Given the description of an element on the screen output the (x, y) to click on. 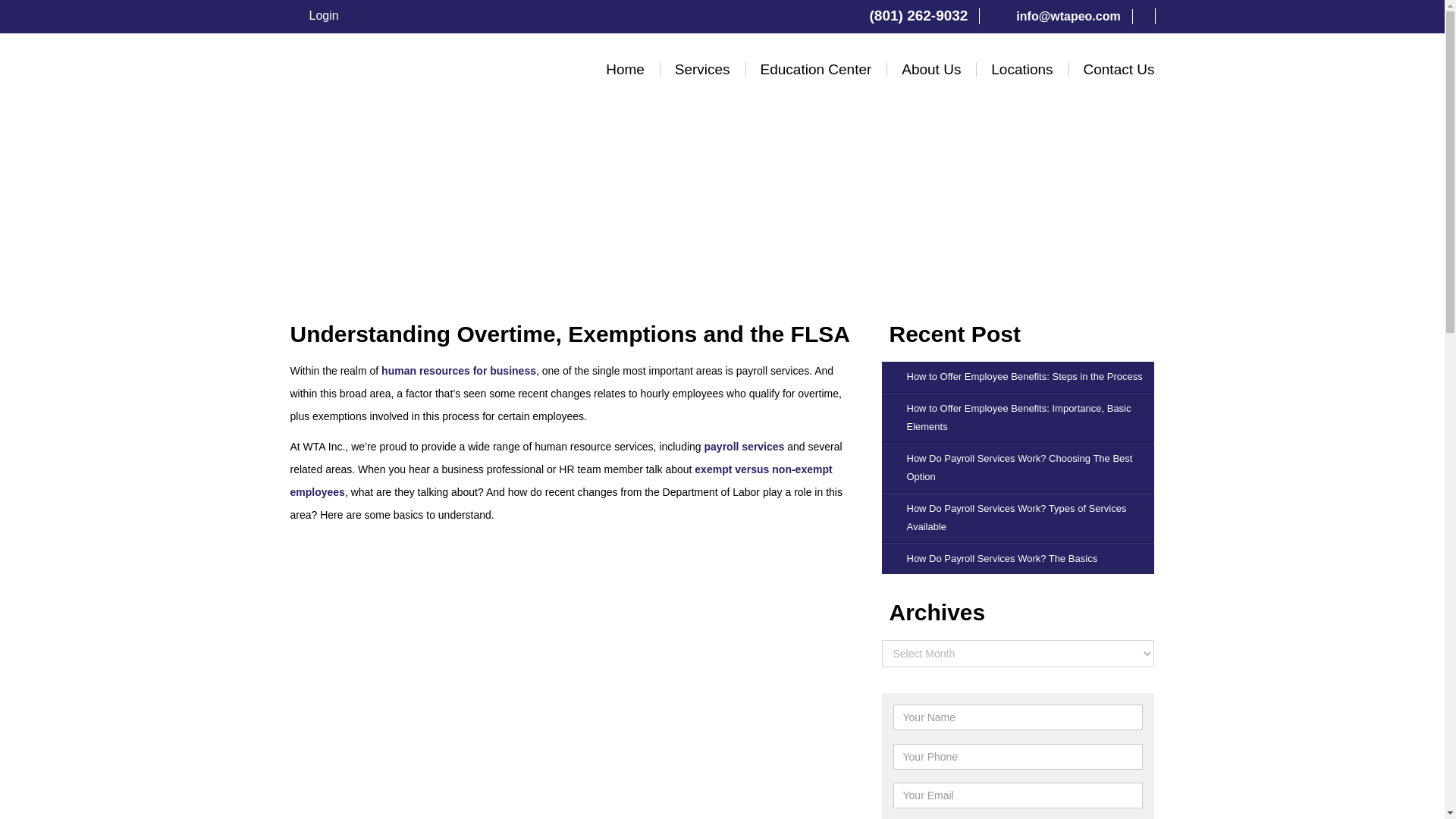
Login (309, 15)
Services (702, 69)
How Do Payroll Services Work? The Basics (1017, 558)
Locations (1021, 69)
exempt versus non-exempt employees (560, 480)
Home (625, 69)
payroll services (744, 446)
Salt Lake City (1043, 94)
Outsourced Payroll Services and Tax Administration (727, 99)
WTA, Inc. (402, 104)
